Given the description of an element on the screen output the (x, y) to click on. 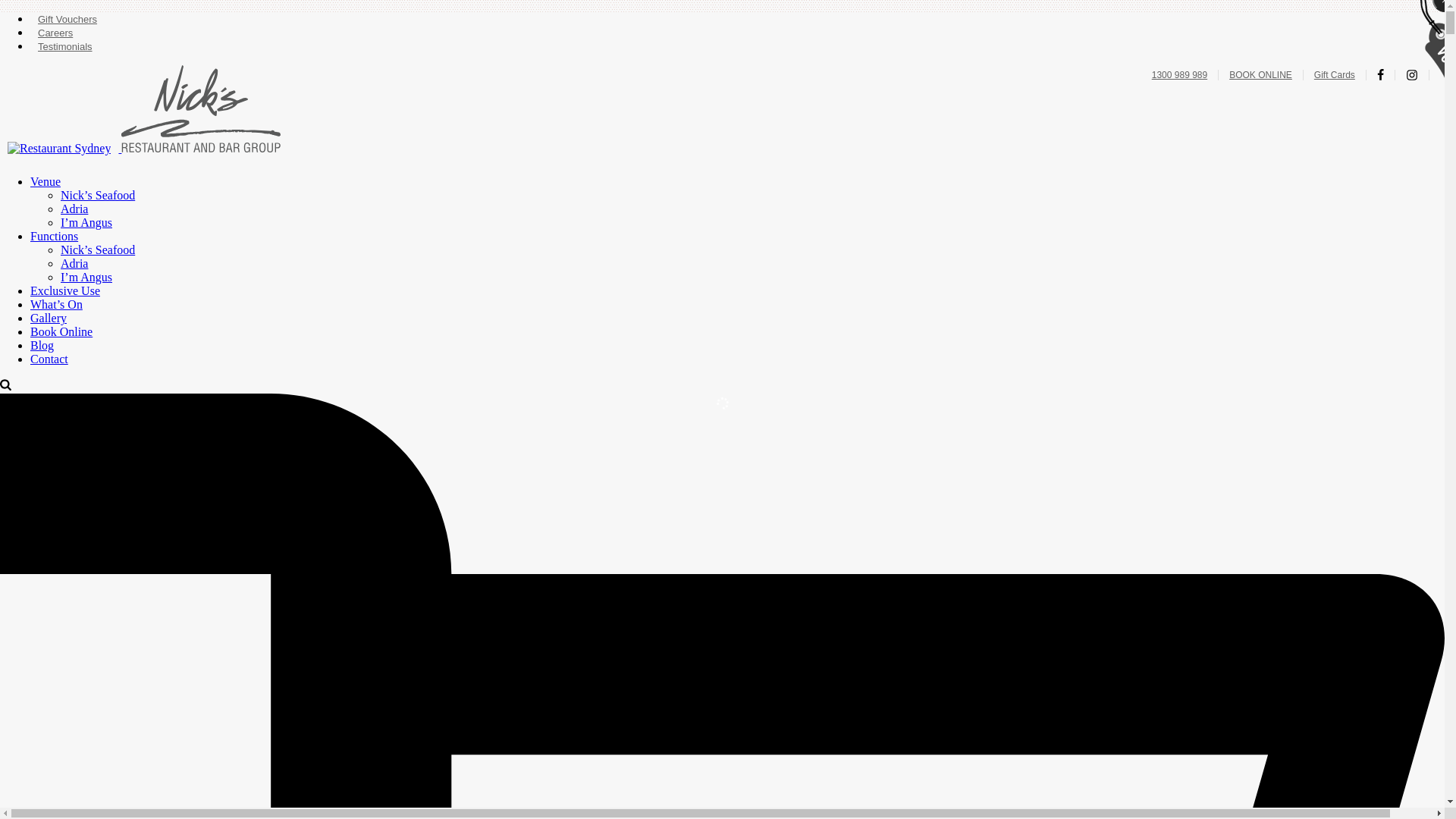
Gift Cards Element type: text (1336, 74)
Book Online Element type: text (61, 331)
Blog Element type: text (41, 344)
Venue Element type: text (45, 181)
Restaurant Sydney Element type: hover (59, 148)
Gallery Element type: text (48, 317)
Restaurant Sydney Element type: hover (200, 108)
1300 989 989 Element type: text (1181, 74)
BOOK ONLINE Element type: text (1262, 74)
Testimonials Element type: text (66, 46)
Contact Element type: text (49, 358)
Adria Element type: text (73, 263)
Careers Element type: text (56, 32)
Exclusive Use Element type: text (65, 290)
Functions Element type: text (54, 235)
Gift Vouchers Element type: text (68, 19)
Adria Element type: text (73, 208)
